Given the description of an element on the screen output the (x, y) to click on. 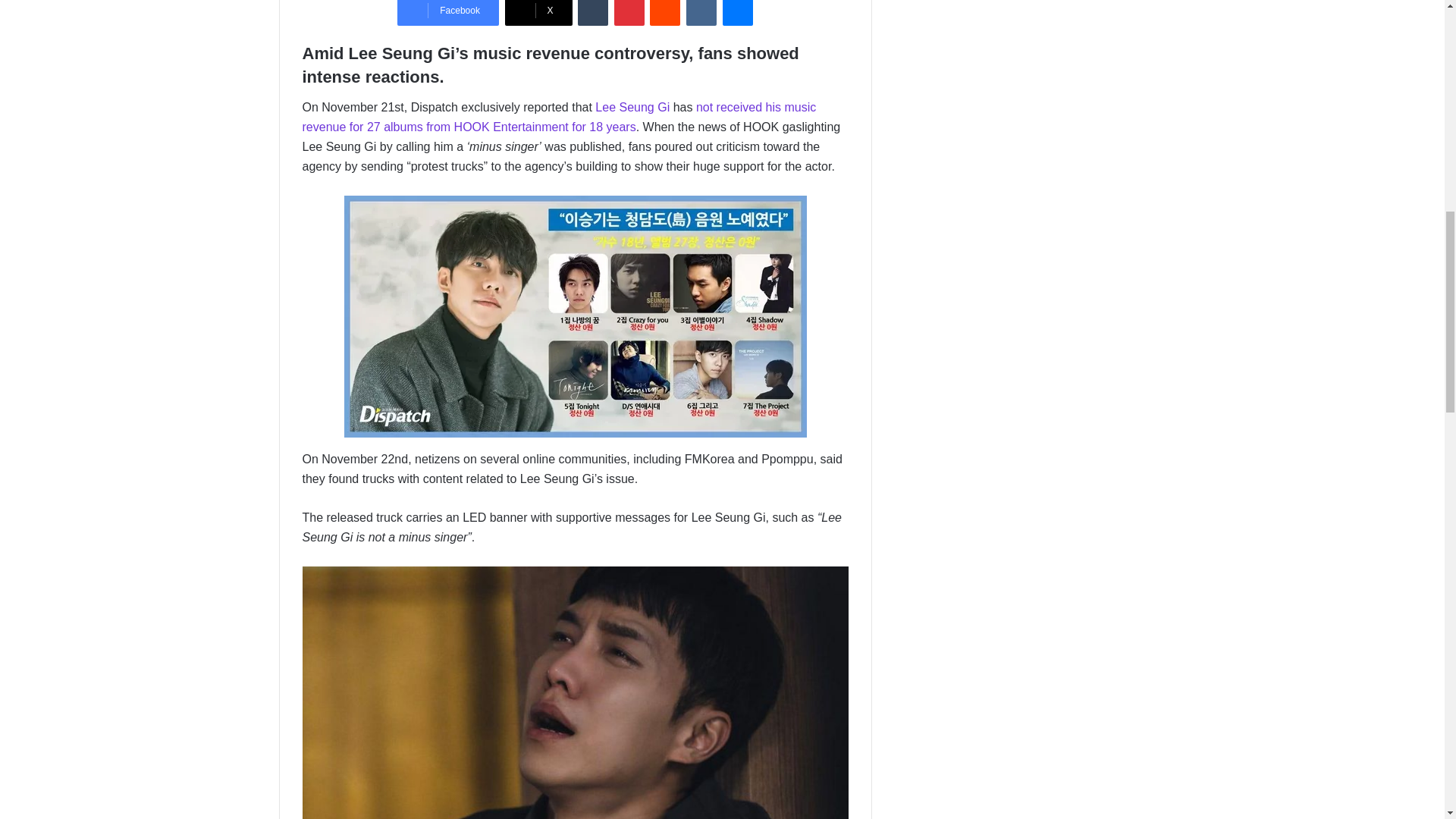
Tumblr (593, 12)
X (538, 12)
Pinterest (629, 12)
VKontakte (700, 12)
Lee Seung Gi (632, 106)
Reddit (664, 12)
Facebook (448, 12)
Facebook (448, 12)
X (538, 12)
Pinterest (629, 12)
Messenger (737, 12)
Reddit (664, 12)
Messenger (737, 12)
VKontakte (700, 12)
